Given the description of an element on the screen output the (x, y) to click on. 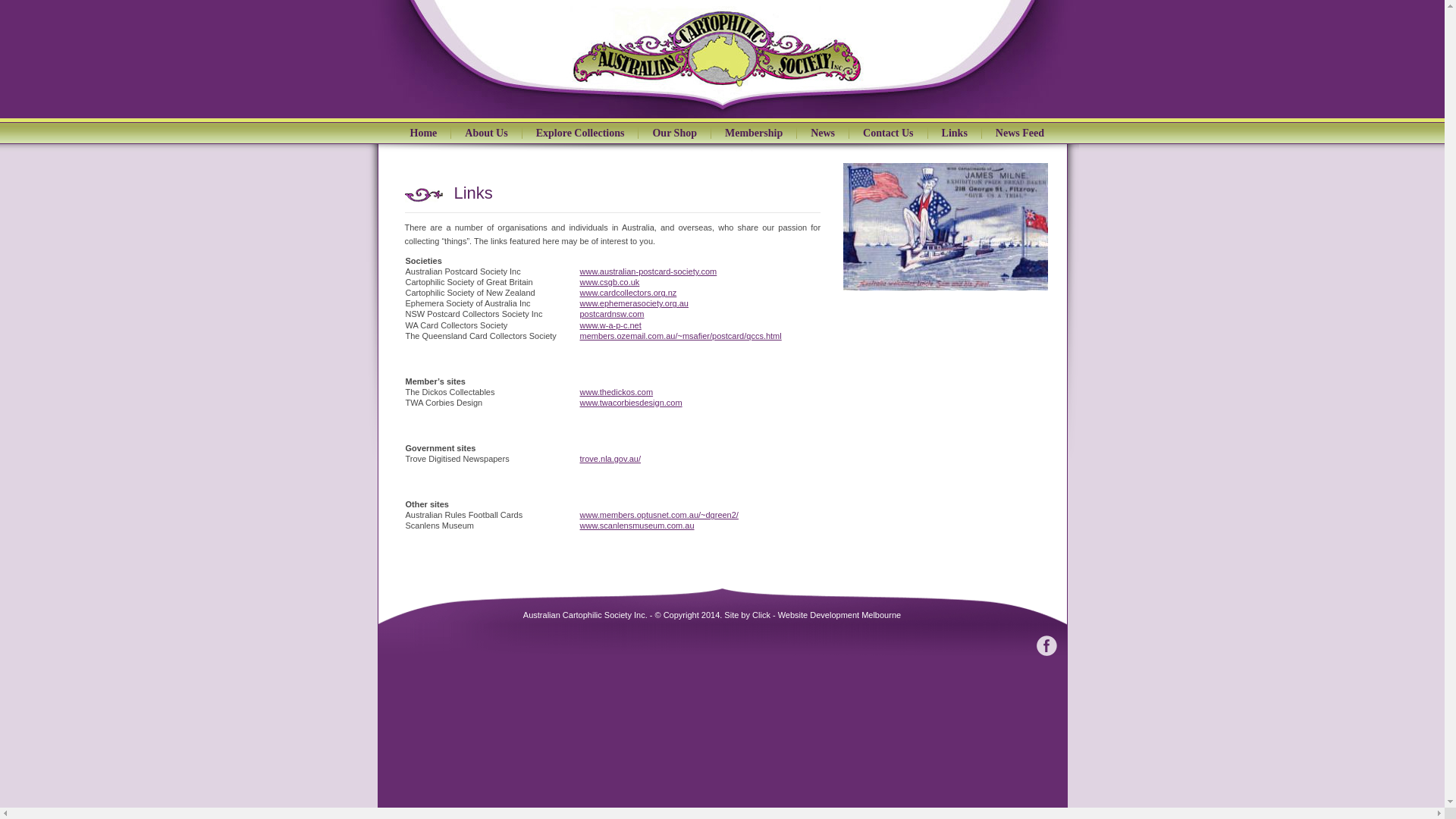
postcardnsw.com Element type: text (611, 313)
Our Shop Element type: text (673, 132)
Membership Element type: text (753, 132)
News Element type: text (822, 132)
www.csgb.co.uk Element type: text (609, 281)
www.cardcollectors.org.nz Element type: text (627, 292)
Explore Collections Element type: text (579, 132)
News Feed Element type: text (1019, 132)
Click Element type: text (761, 614)
www.twacorbiesdesign.com Element type: text (630, 402)
Contact Us Element type: text (887, 132)
Website Development Melbourne Element type: text (839, 614)
Home Element type: text (422, 132)
members.ozemail.com.au/~msafier/postcard/qccs.html Element type: text (680, 335)
www.australian-postcard-society.com Element type: text (647, 271)
About Us Element type: text (485, 132)
trove.nla.gov.au/ Element type: text (609, 458)
www.w-a-p-c.net Element type: text (609, 324)
www.ephemerasociety.org.au Element type: text (633, 302)
www.scanlensmuseum.com.au Element type: text (636, 525)
www.thedickos.com Element type: text (615, 391)
www.members.optusnet.com.au/~dgreen2/ Element type: text (658, 514)
Links Element type: text (954, 132)
